Given the description of an element on the screen output the (x, y) to click on. 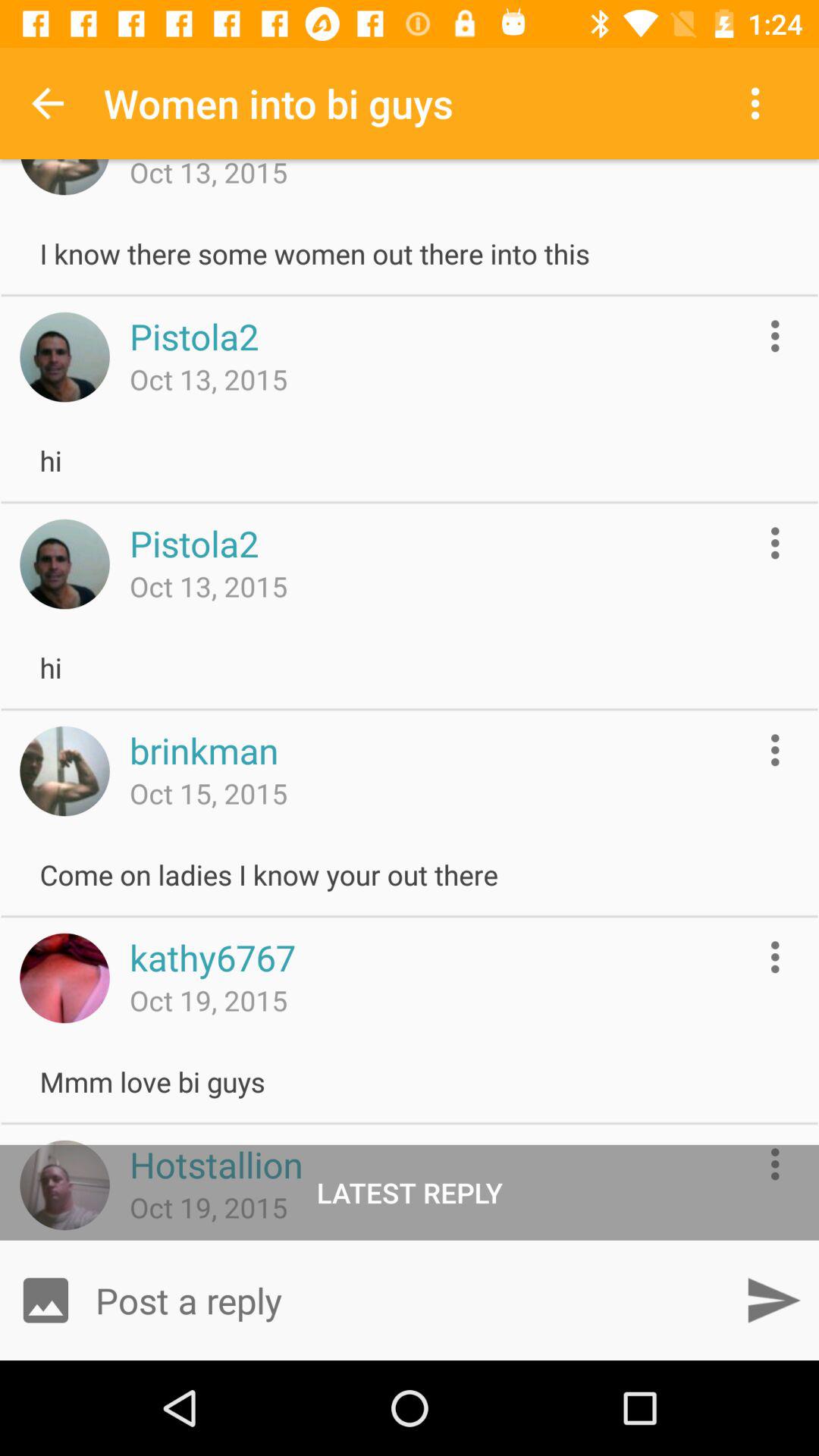
press the kathy6767 (212, 957)
